Given the description of an element on the screen output the (x, y) to click on. 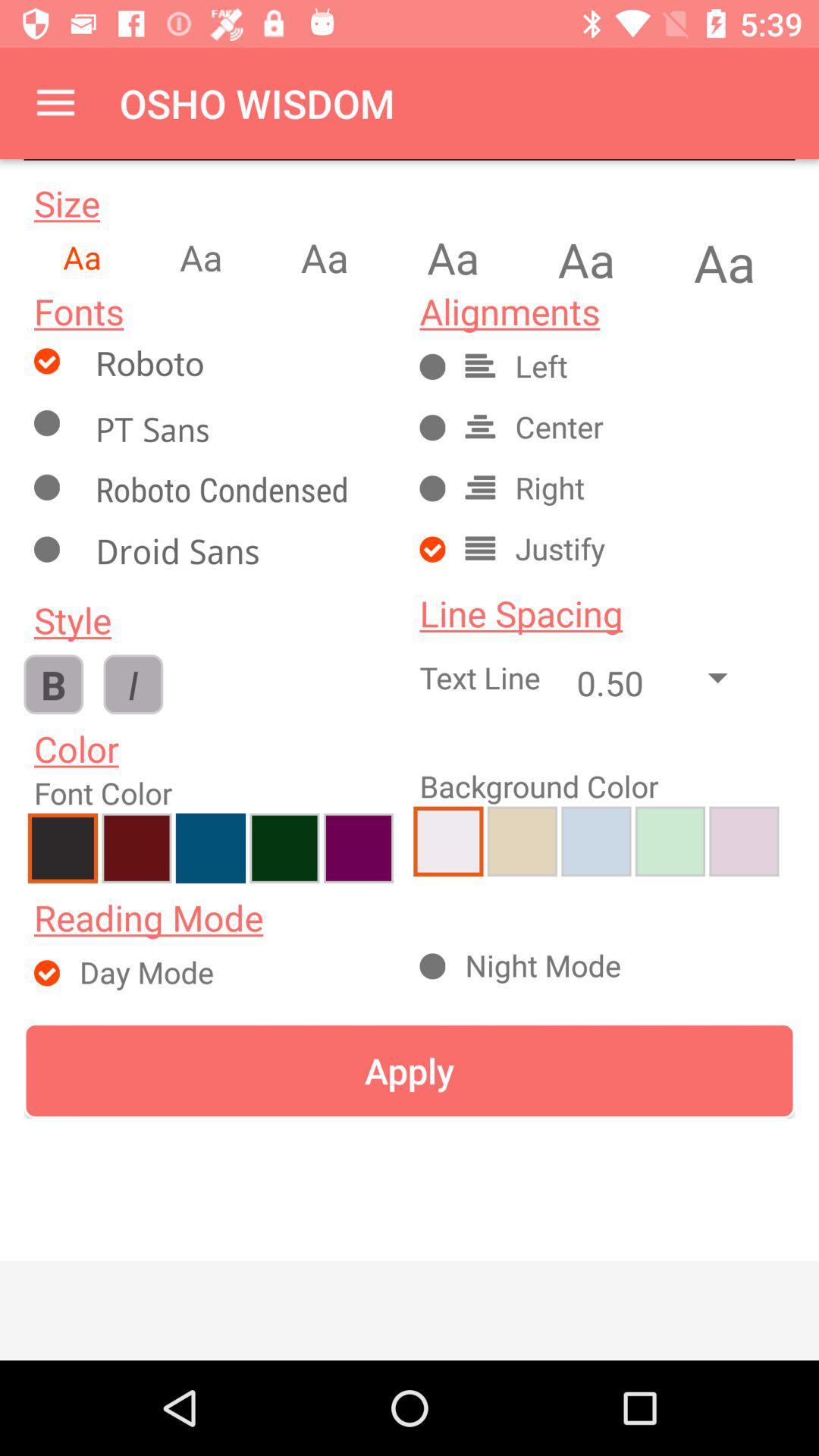
open the item to the left of i icon (53, 684)
